Given the description of an element on the screen output the (x, y) to click on. 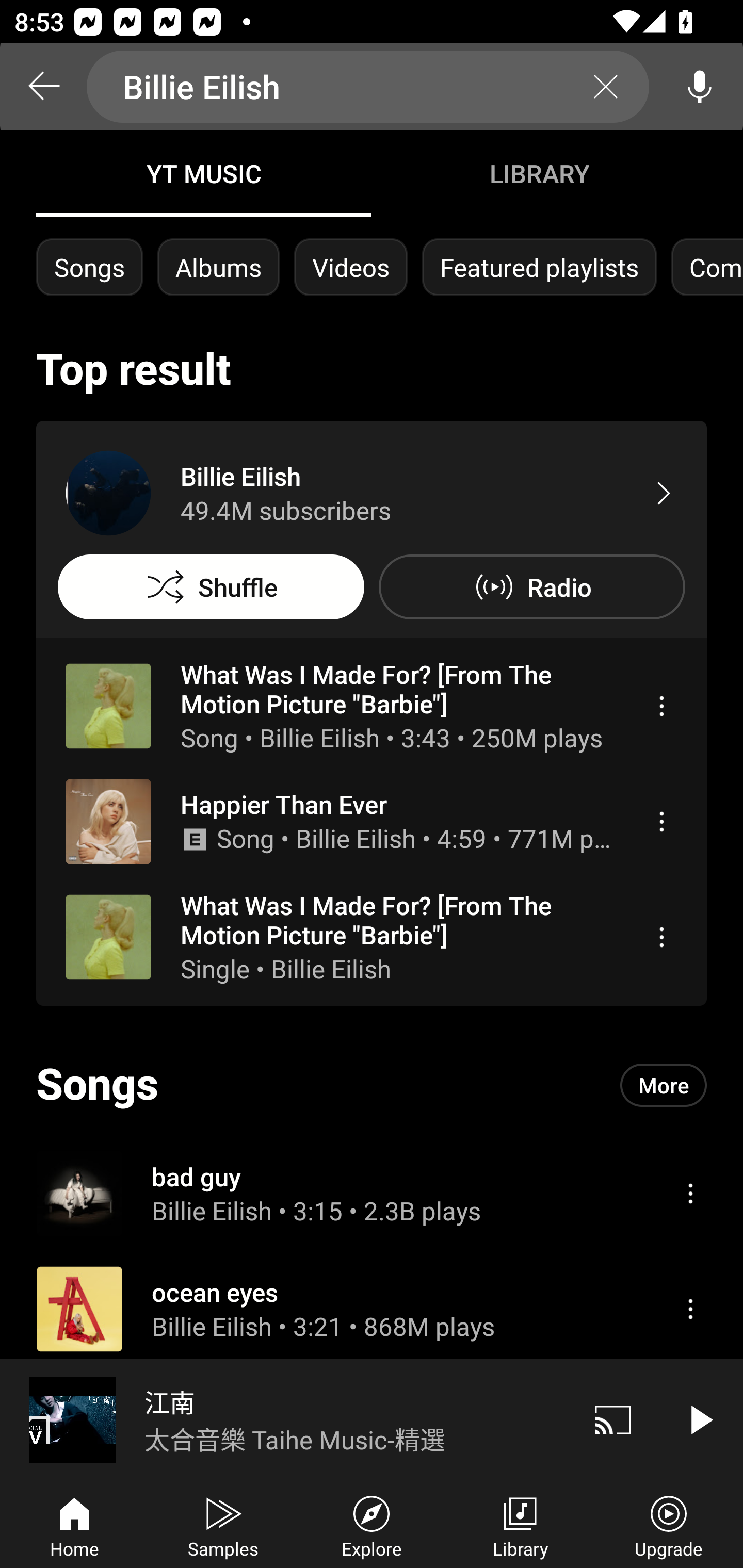
Search back (43, 86)
Billie Eilish (367, 86)
Clear search (605, 86)
Voice search (699, 86)
Library LIBRARY (538, 173)
Shuffle (210, 587)
Radio (531, 587)
Menu (661, 705)
Menu (661, 821)
Menu (661, 937)
Songs More More (371, 1084)
More (663, 1085)
Menu (690, 1193)
Menu (690, 1309)
江南 太合音樂 Taihe Music-精選 (284, 1419)
Cast. Disconnected (612, 1419)
Play video (699, 1419)
Home (74, 1524)
Samples (222, 1524)
Explore (371, 1524)
Library (519, 1524)
Upgrade (668, 1524)
